Given the description of an element on the screen output the (x, y) to click on. 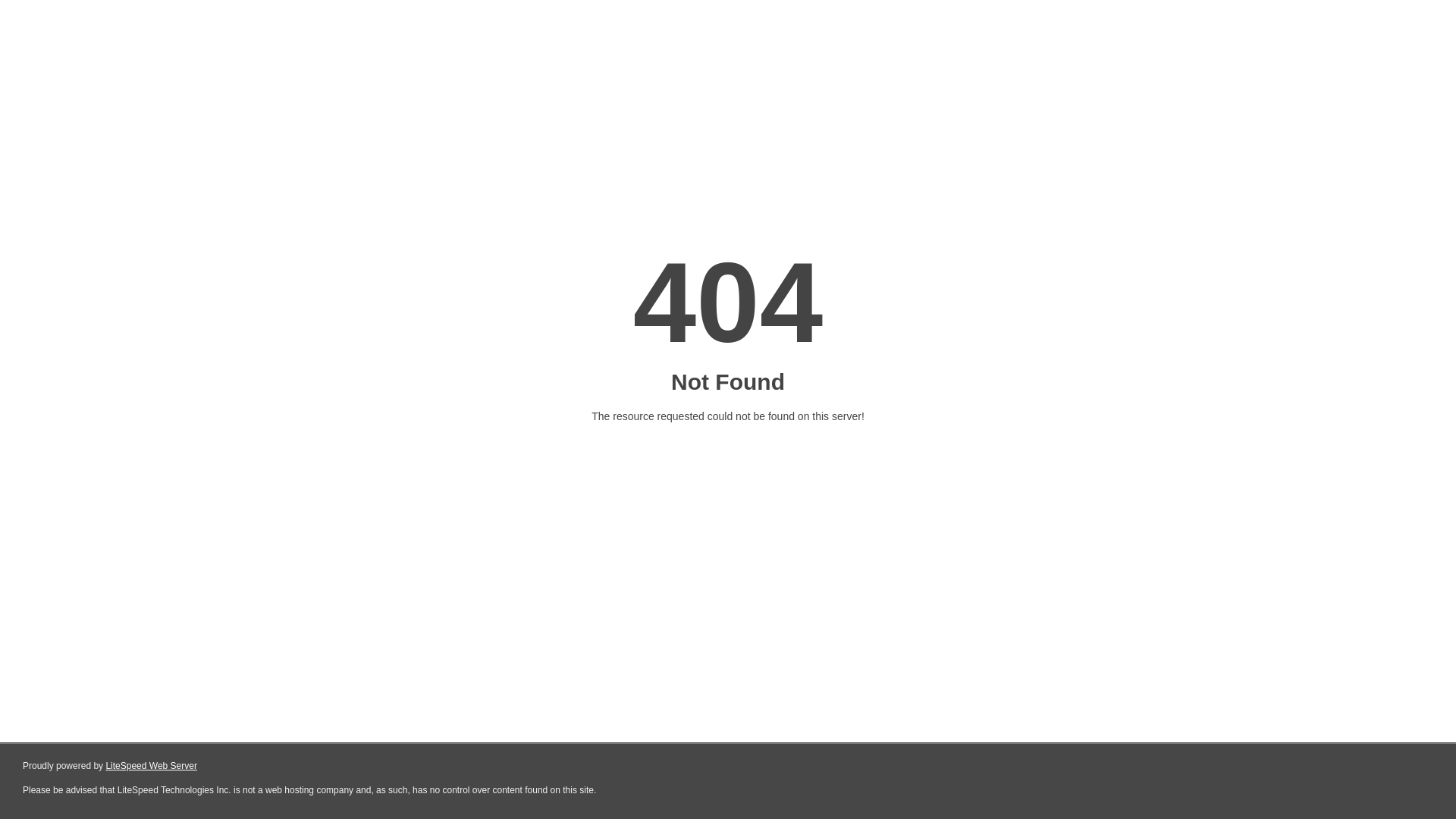
LiteSpeed Web Server Element type: text (151, 765)
